Given the description of an element on the screen output the (x, y) to click on. 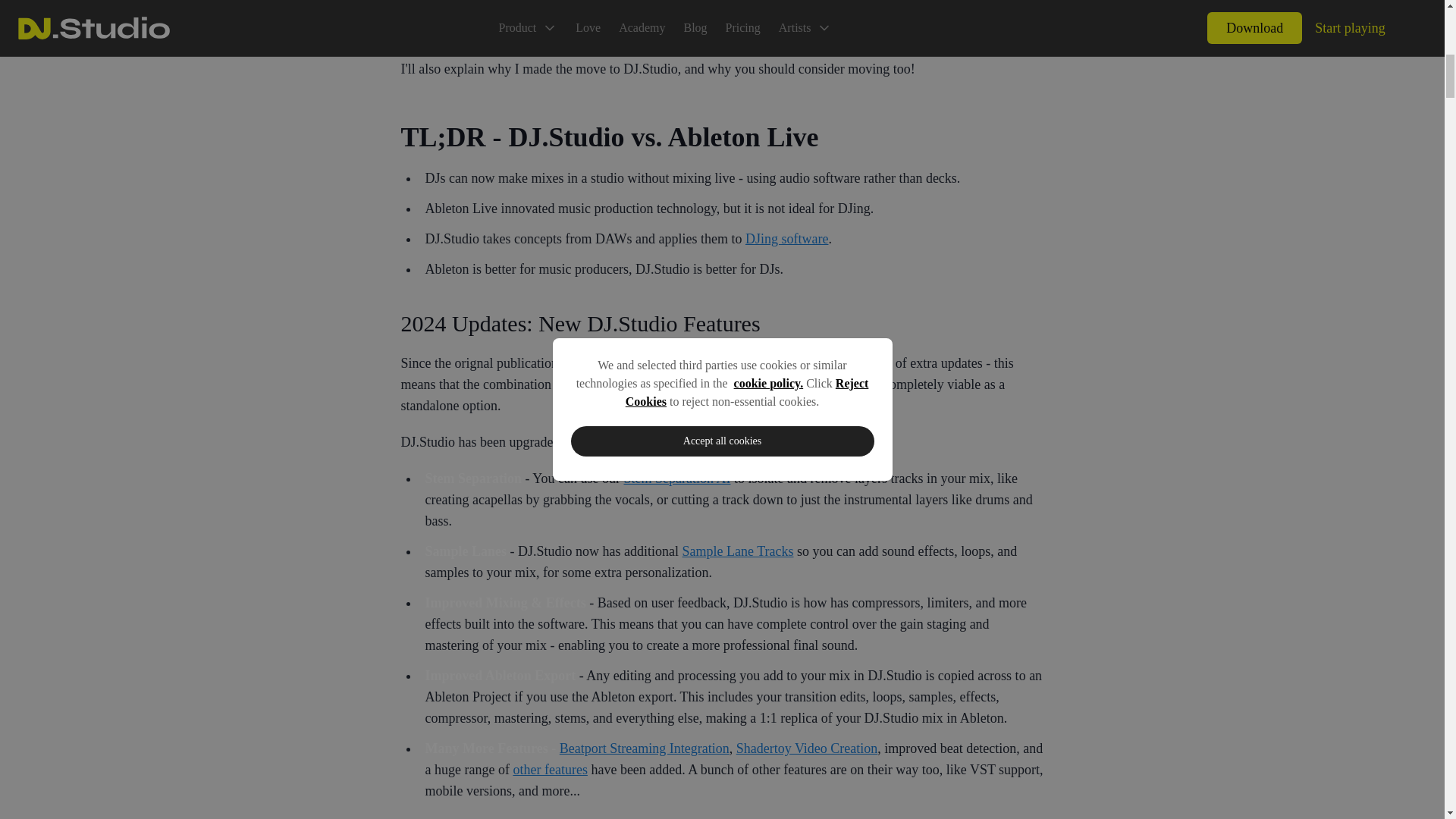
Sample Lane Tracks (737, 550)
2024 Updates: New DJ.Studio Features (721, 323)
DJing software (786, 238)
Beatport Streaming Integration (644, 748)
other features (549, 769)
Stem Separation AI (676, 478)
TL;DR - DJ.Studio vs. Ableton Live (721, 137)
Shadertoy Video Creation (806, 748)
